Given the description of an element on the screen output the (x, y) to click on. 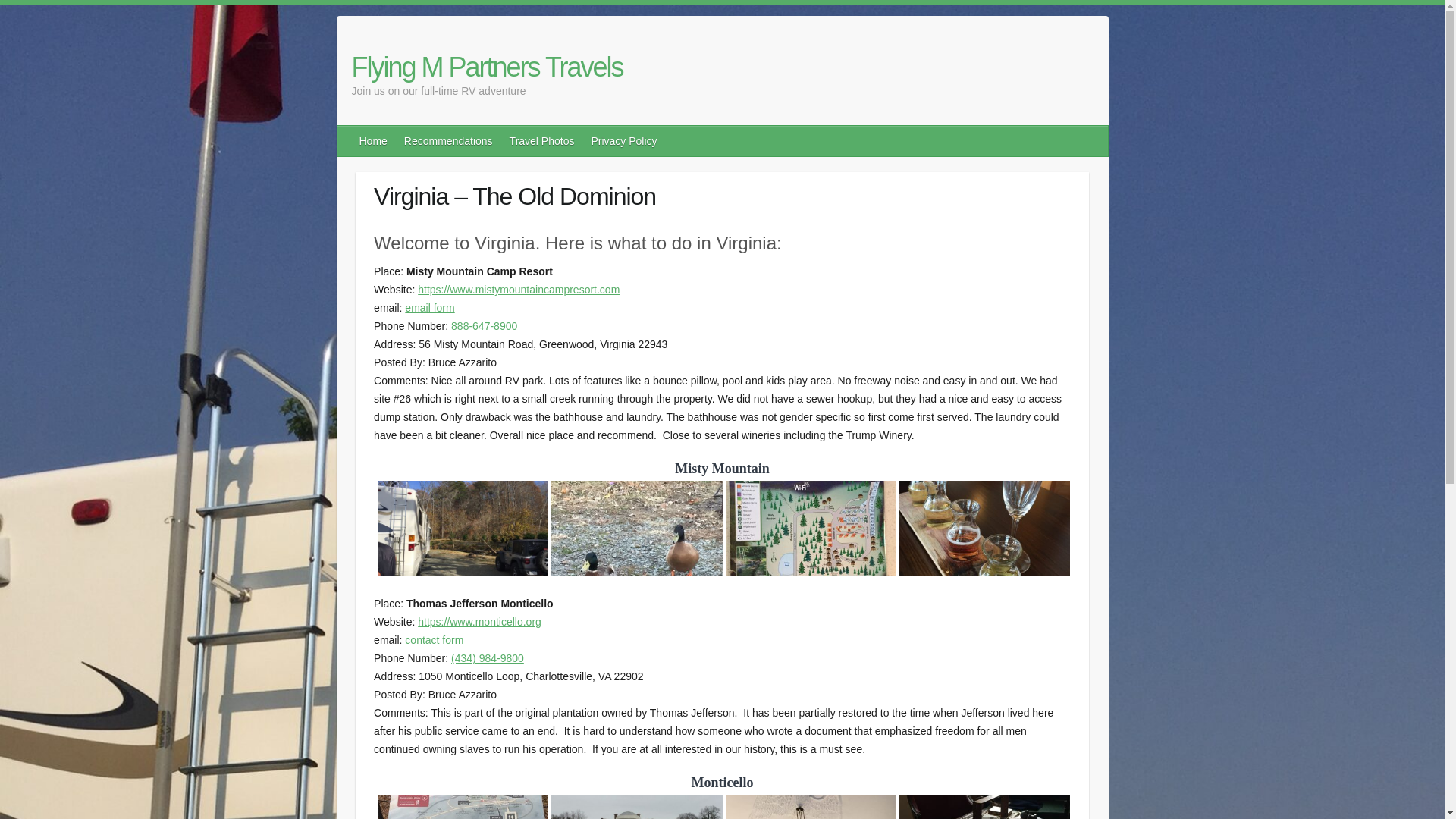
Ceiling (810, 773)
Monticello (636, 798)
Desk (984, 773)
Recommendations (449, 141)
Map (462, 773)
contact form (433, 639)
email form (429, 307)
Flying M Partners Travels (487, 67)
Travel Photos (542, 141)
Privacy Policy (624, 141)
